Given the description of an element on the screen output the (x, y) to click on. 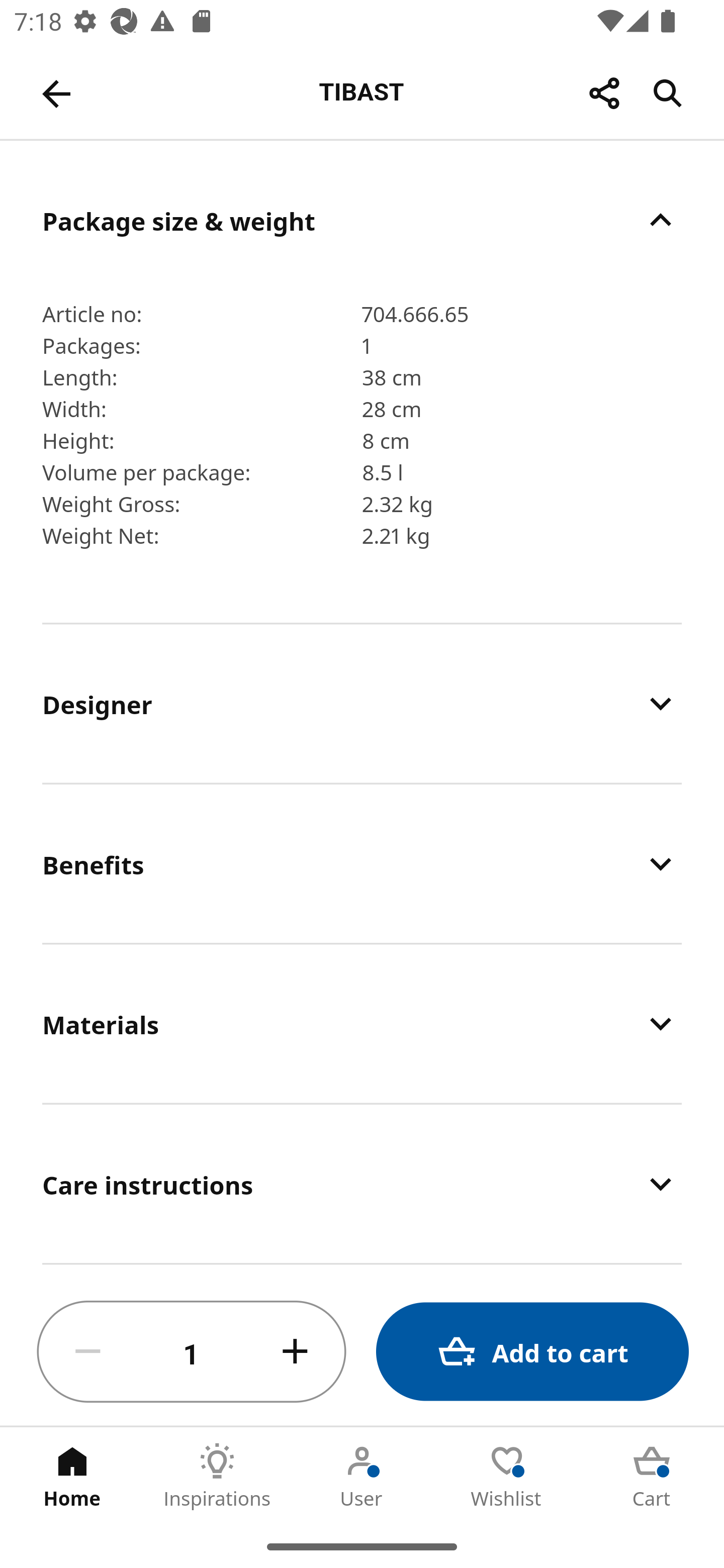
Package size & weight (361, 219)
Designer (361, 702)
Benefits (361, 863)
Materials (361, 1023)
Care instructions (361, 1183)
Add to cart (531, 1352)
1 (191, 1352)
Home
Tab 1 of 5 (72, 1476)
Inspirations
Tab 2 of 5 (216, 1476)
User
Tab 3 of 5 (361, 1476)
Wishlist
Tab 4 of 5 (506, 1476)
Cart
Tab 5 of 5 (651, 1476)
